Given the description of an element on the screen output the (x, y) to click on. 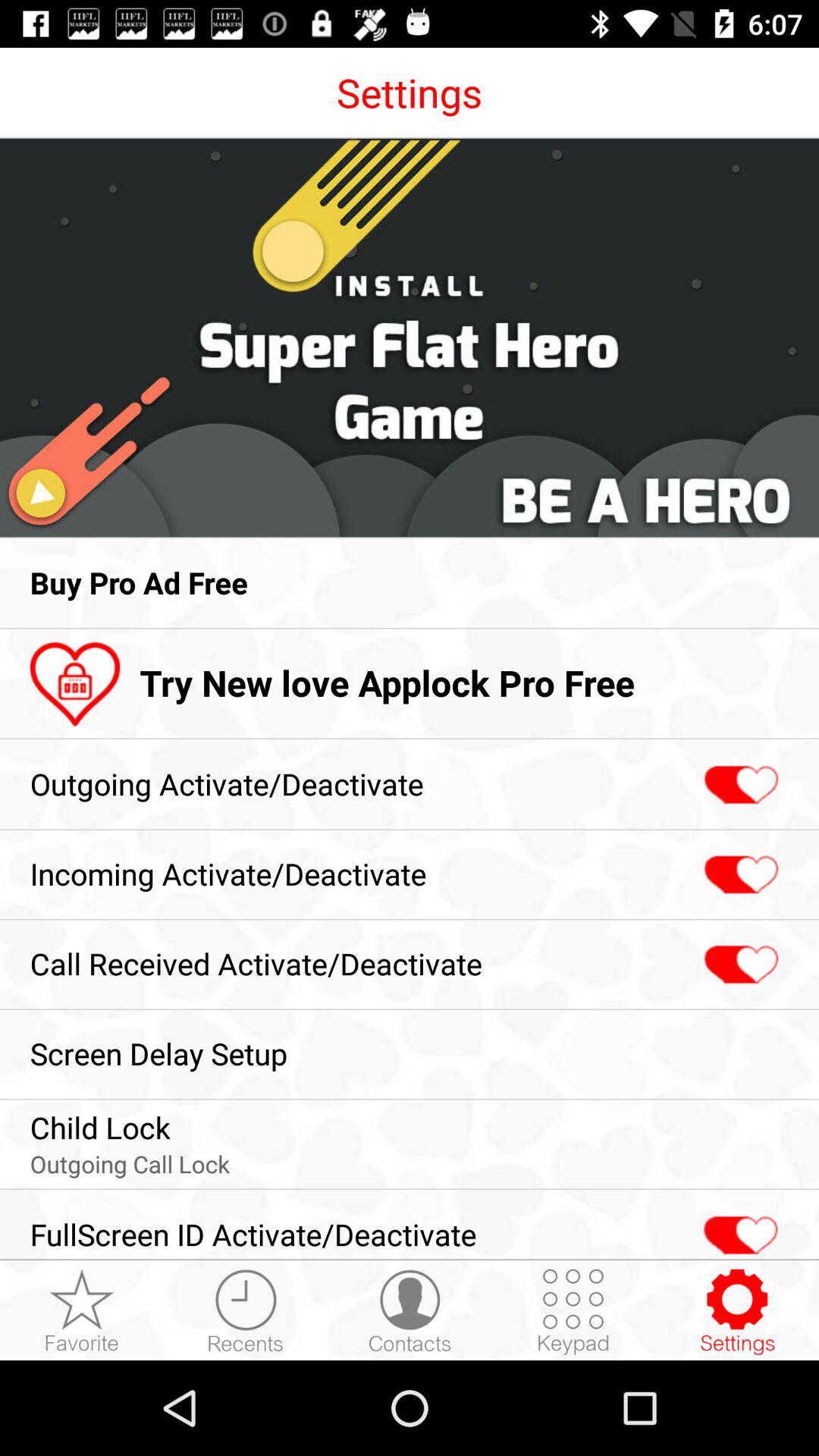
choose the icon to the right of the incoming activate/deactivate (739, 875)
